Given the description of an element on the screen output the (x, y) to click on. 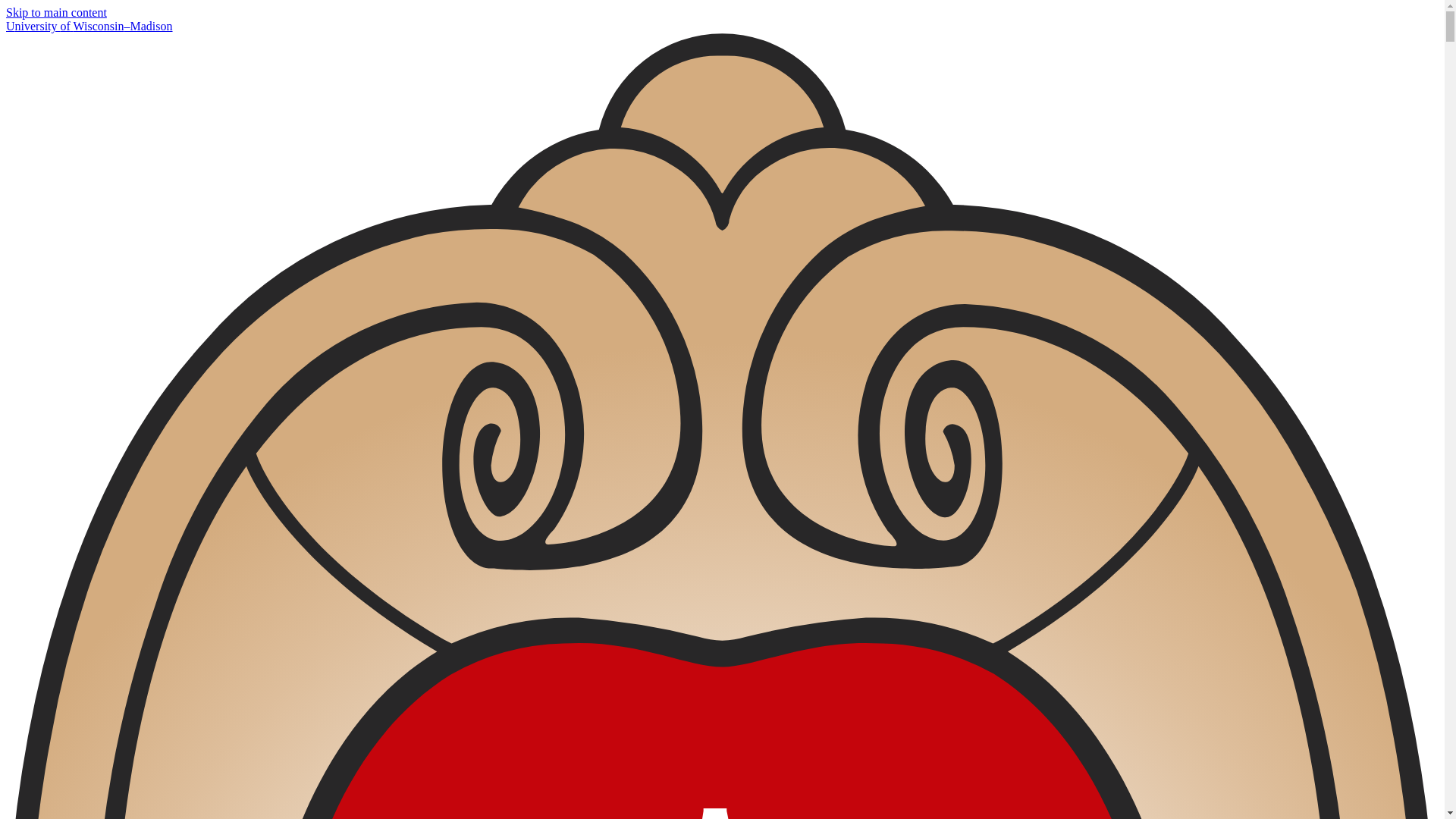
Skip to main content (55, 11)
